Given the description of an element on the screen output the (x, y) to click on. 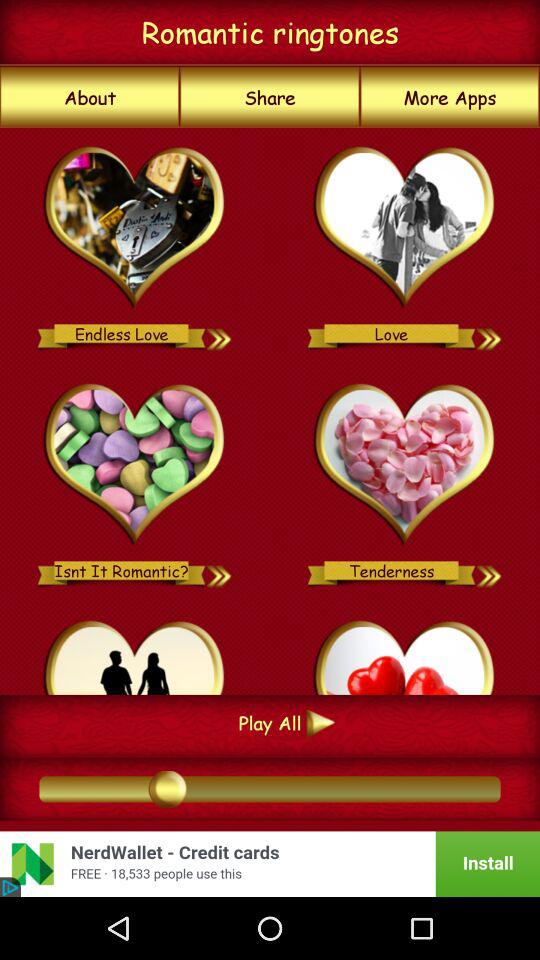
pick ringtone (404, 465)
